Given the description of an element on the screen output the (x, y) to click on. 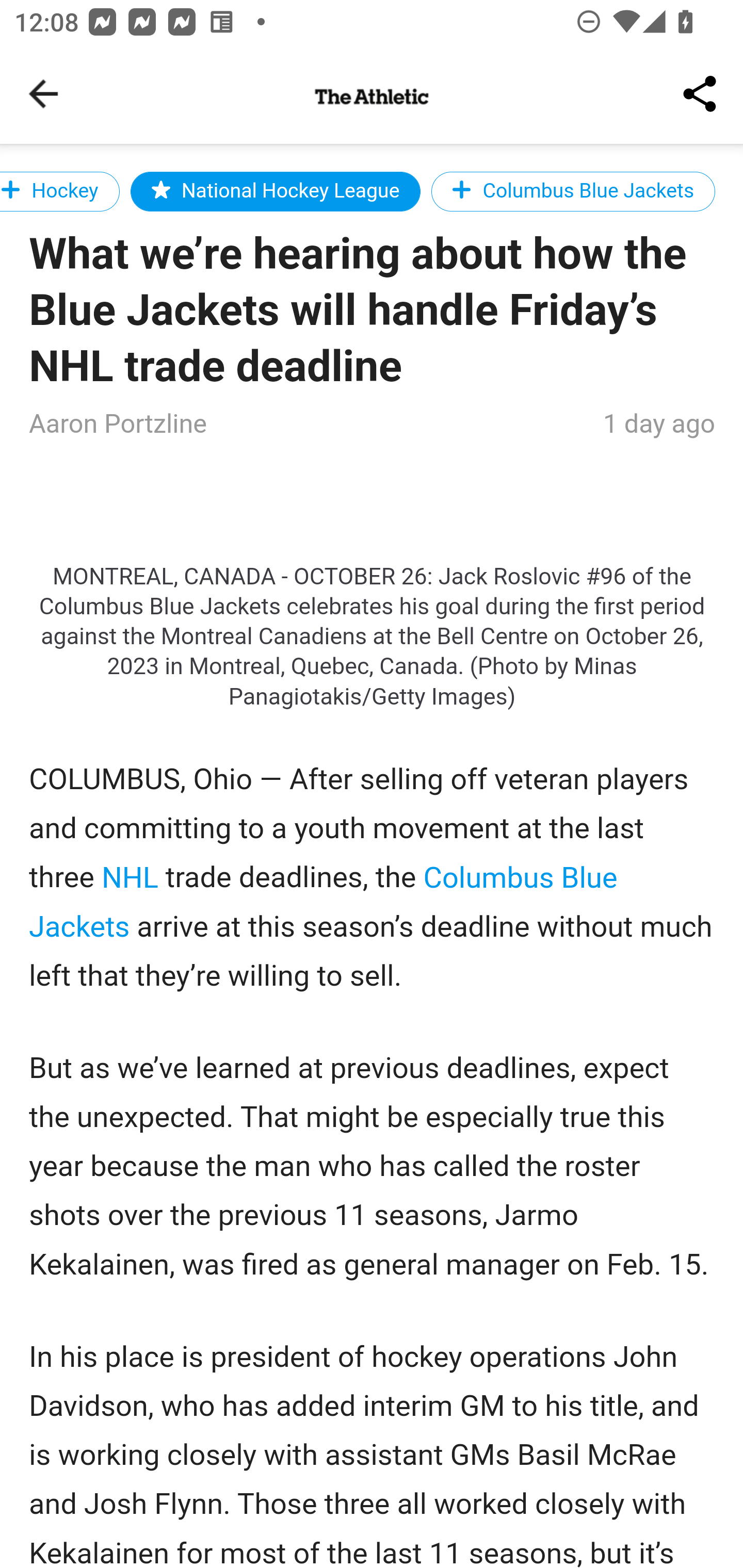
Hockey (60, 191)
National Hockey League (276, 191)
Columbus Blue Jackets (572, 191)
Columbus Blue Jackets (323, 901)
NHL (130, 876)
